Given the description of an element on the screen output the (x, y) to click on. 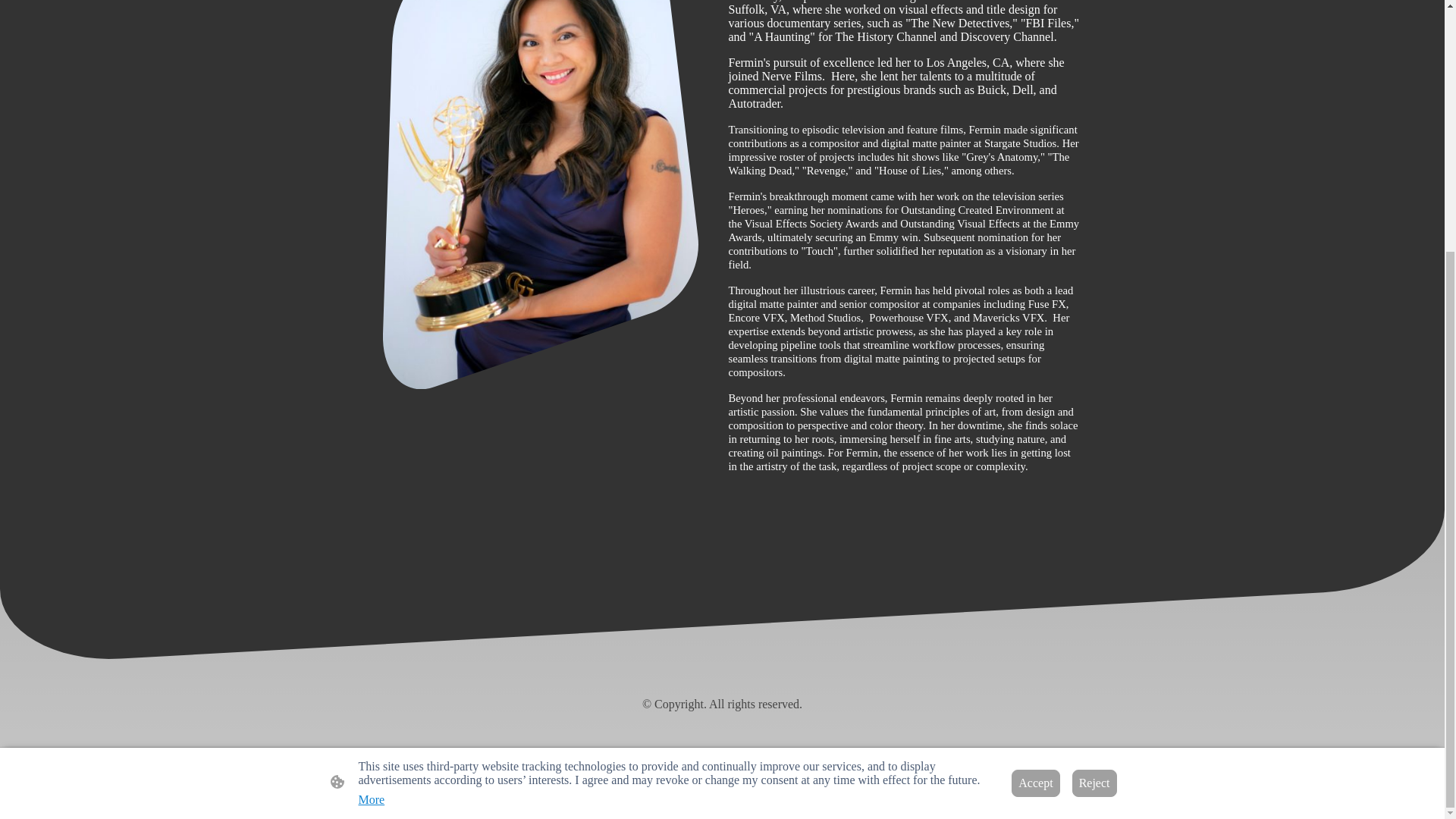
Reject (1093, 429)
More (371, 445)
Accept (1035, 429)
